Given the description of an element on the screen output the (x, y) to click on. 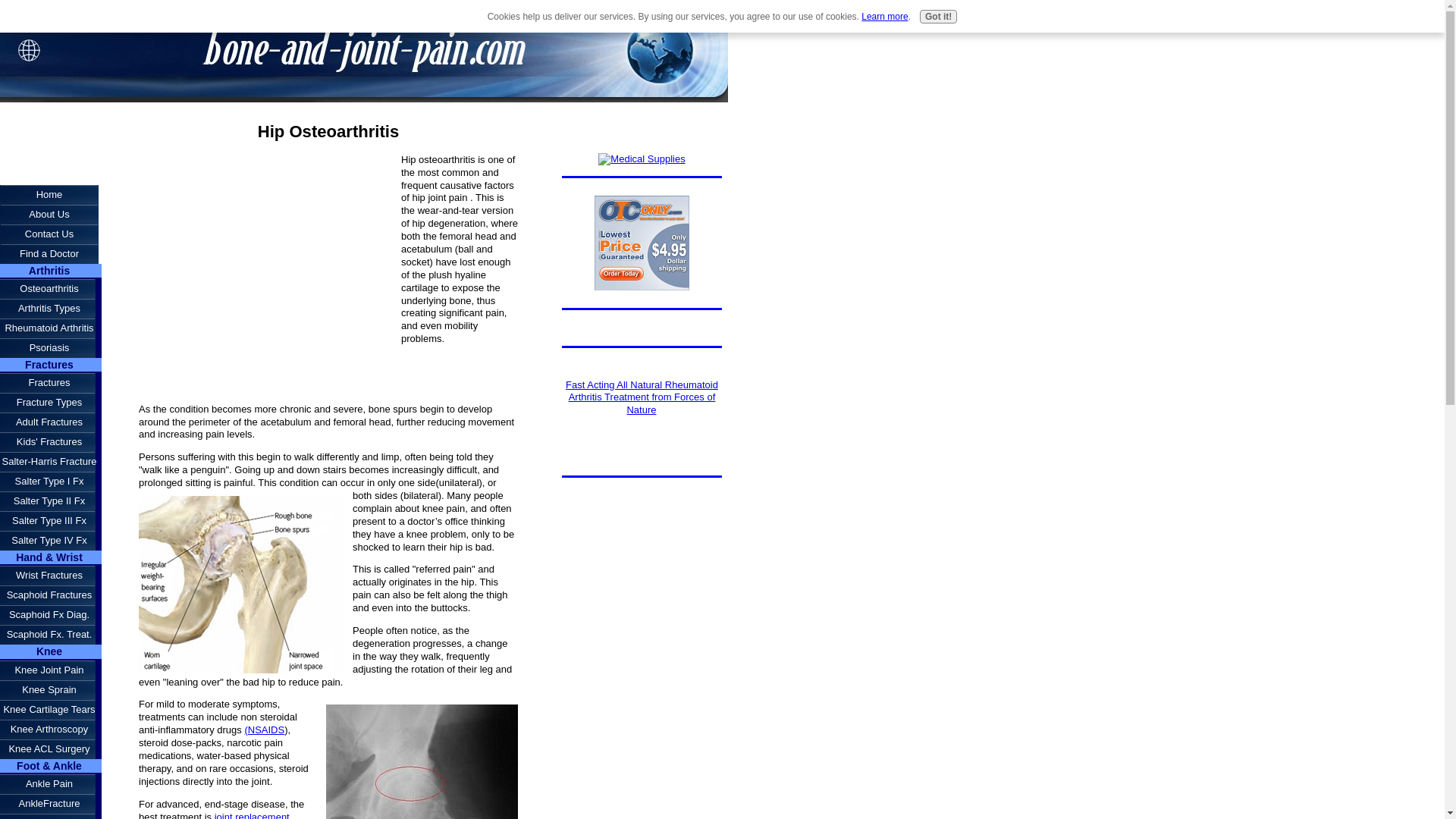
Fracture Types (50, 402)
Knee ACL Surgery (50, 749)
Fractures (50, 383)
Wrist Fractures (50, 575)
Advertisement (48, 138)
Salter Type II Fx (50, 501)
Contact Us (49, 234)
Psoriasis (50, 347)
Advertisement (265, 259)
Osteoarthritis (50, 288)
